Given the description of an element on the screen output the (x, y) to click on. 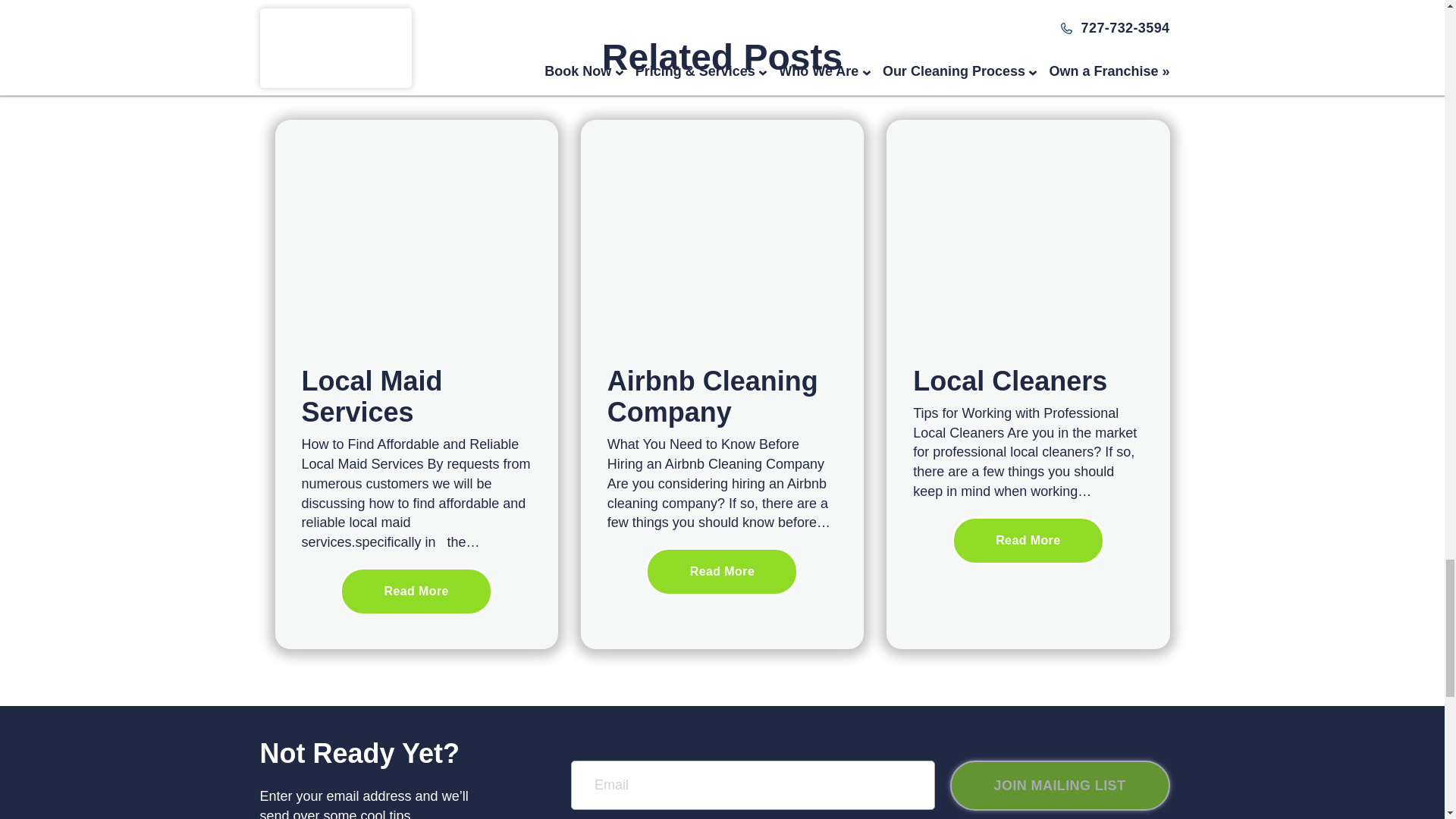
JOIN MAILING LIST (1059, 785)
